Given the description of an element on the screen output the (x, y) to click on. 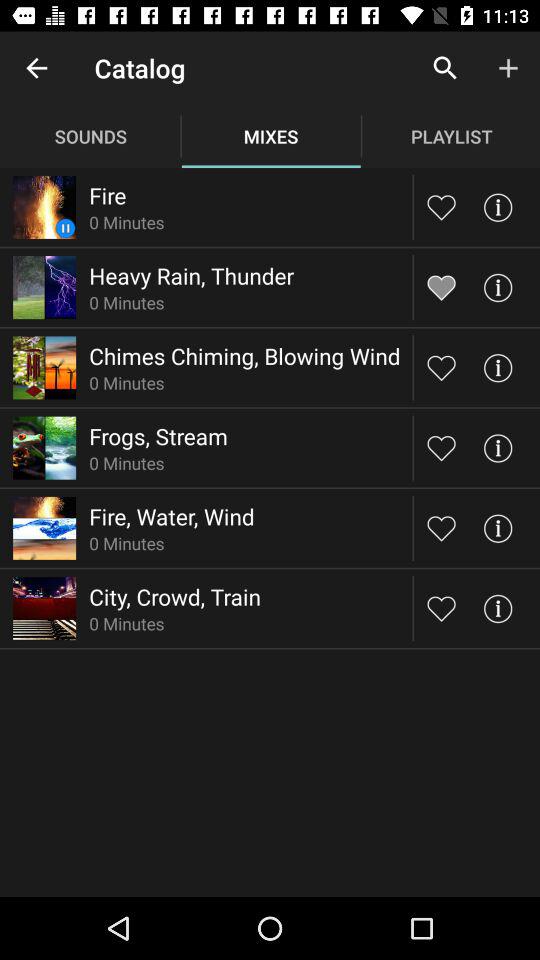
choose item next to catalog app (36, 68)
